Given the description of an element on the screen output the (x, y) to click on. 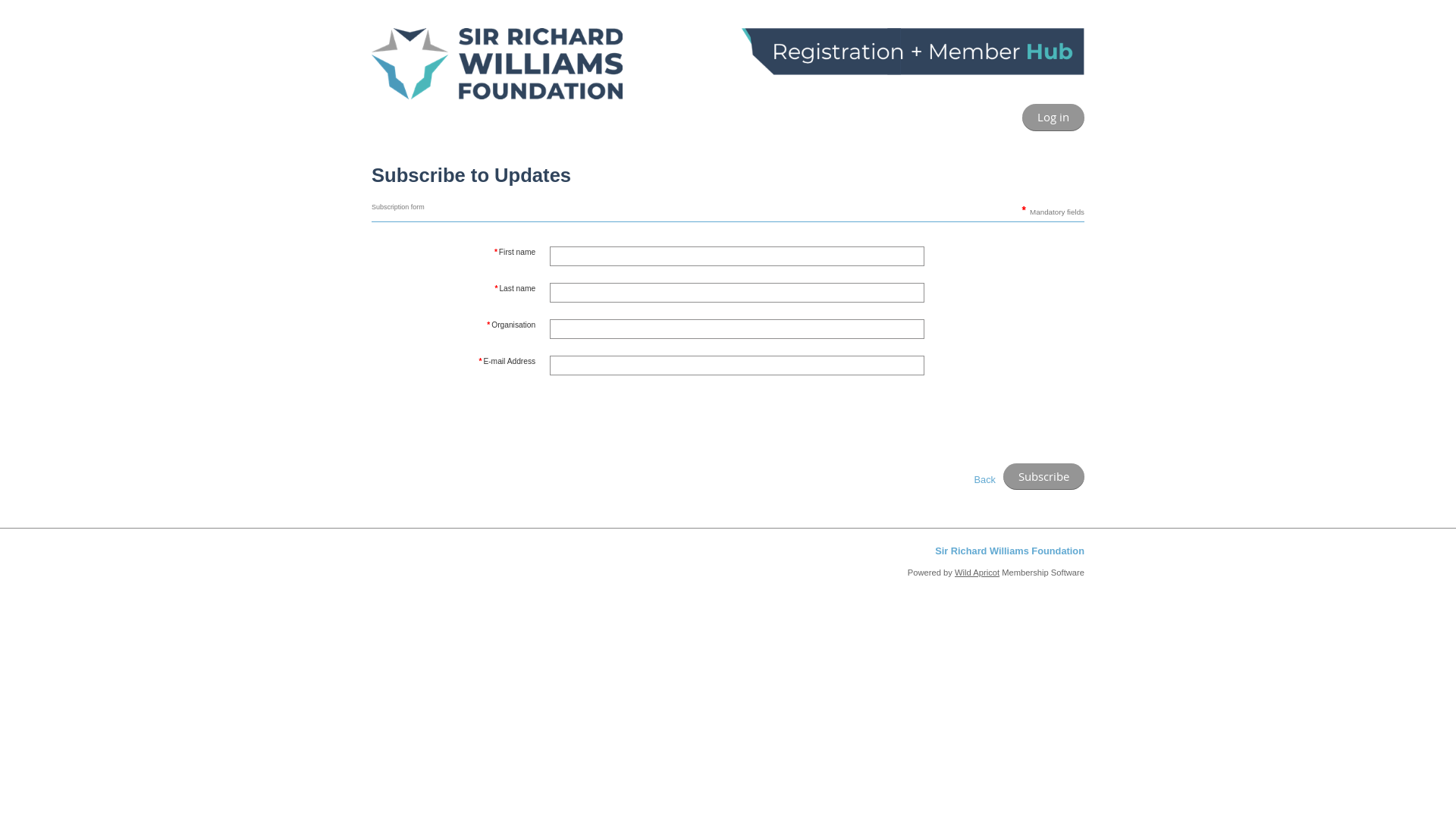
Sir Richard Williams Foundation Element type: text (1009, 550)
Wild Apricot Element type: text (976, 572)
Subscribe Element type: text (1043, 476)
Log in Element type: text (1053, 117)
Back Element type: text (984, 479)
